Given the description of an element on the screen output the (x, y) to click on. 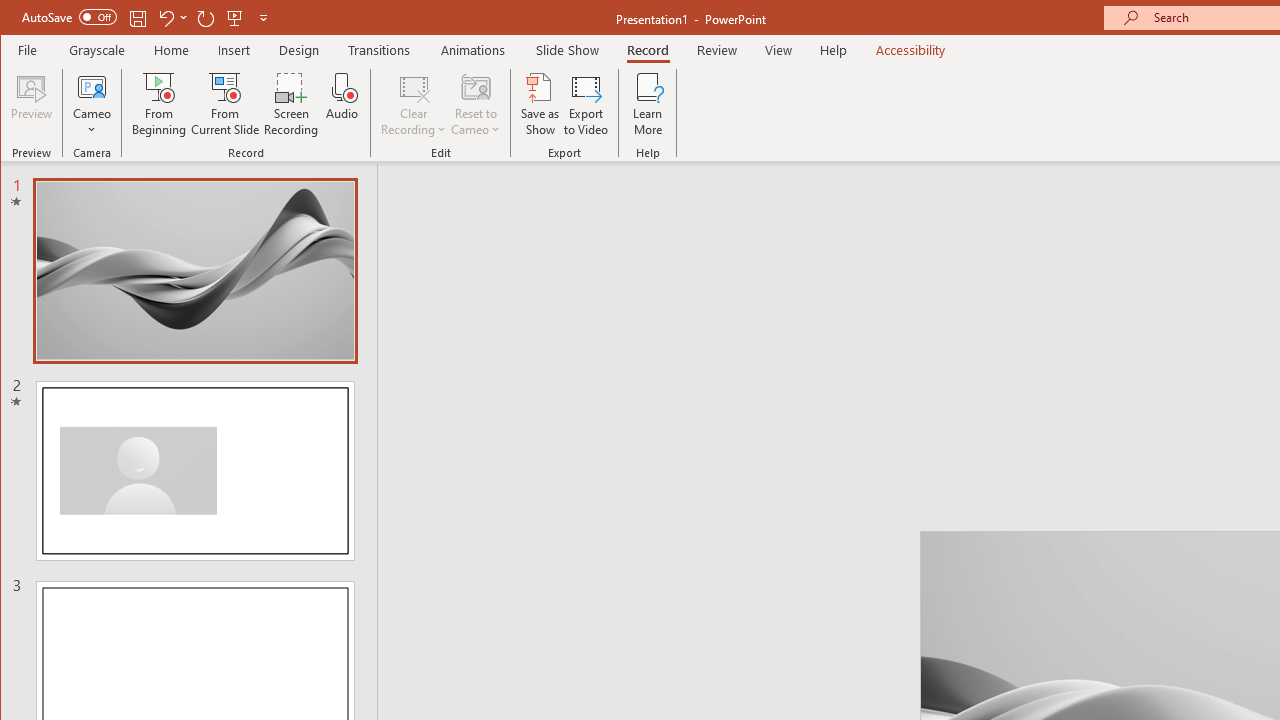
Save as Show (539, 104)
Export to Video (585, 104)
Clear Recording (413, 104)
